Given the description of an element on the screen output the (x, y) to click on. 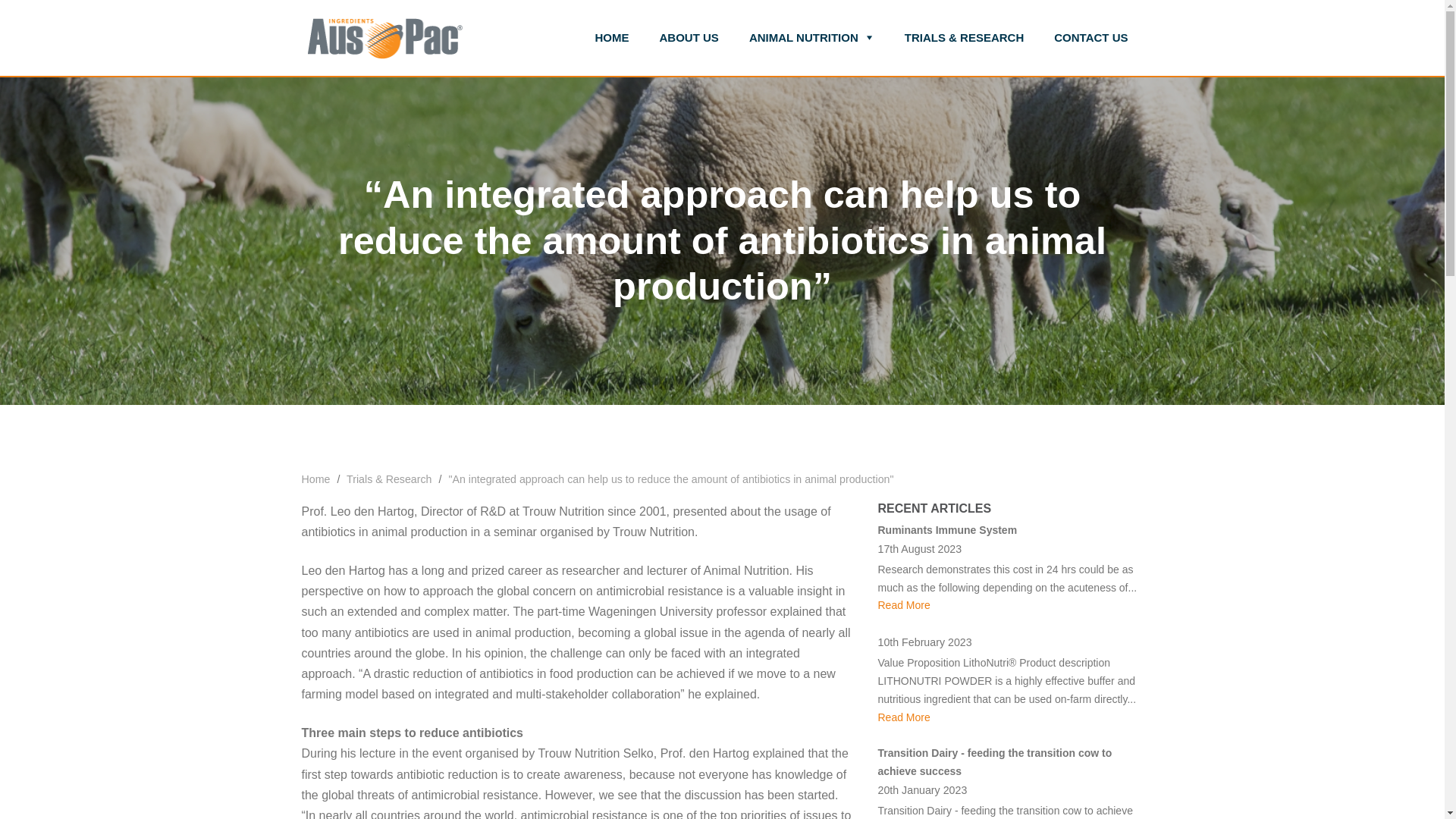
ABOUT US (689, 38)
Home (317, 479)
ANIMAL NUTRITION (811, 38)
Ruminants Immune System (947, 530)
CONTACT US (1090, 38)
Read More (903, 604)
Read More (903, 717)
